Given the description of an element on the screen output the (x, y) to click on. 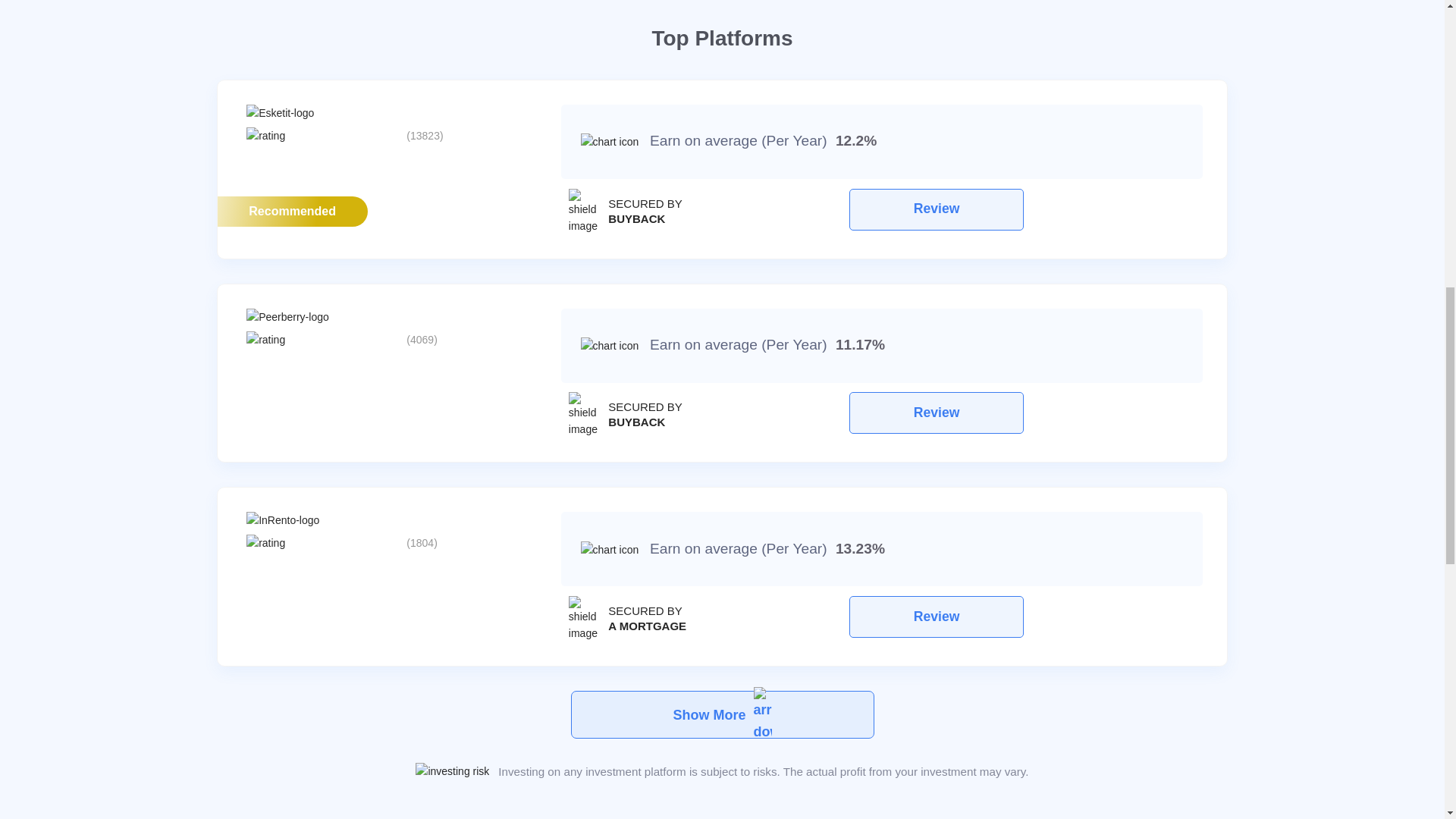
Review (935, 617)
Review (1021, 414)
Review (1021, 618)
Review (1021, 211)
Review (935, 209)
Review (935, 413)
